Given the description of an element on the screen output the (x, y) to click on. 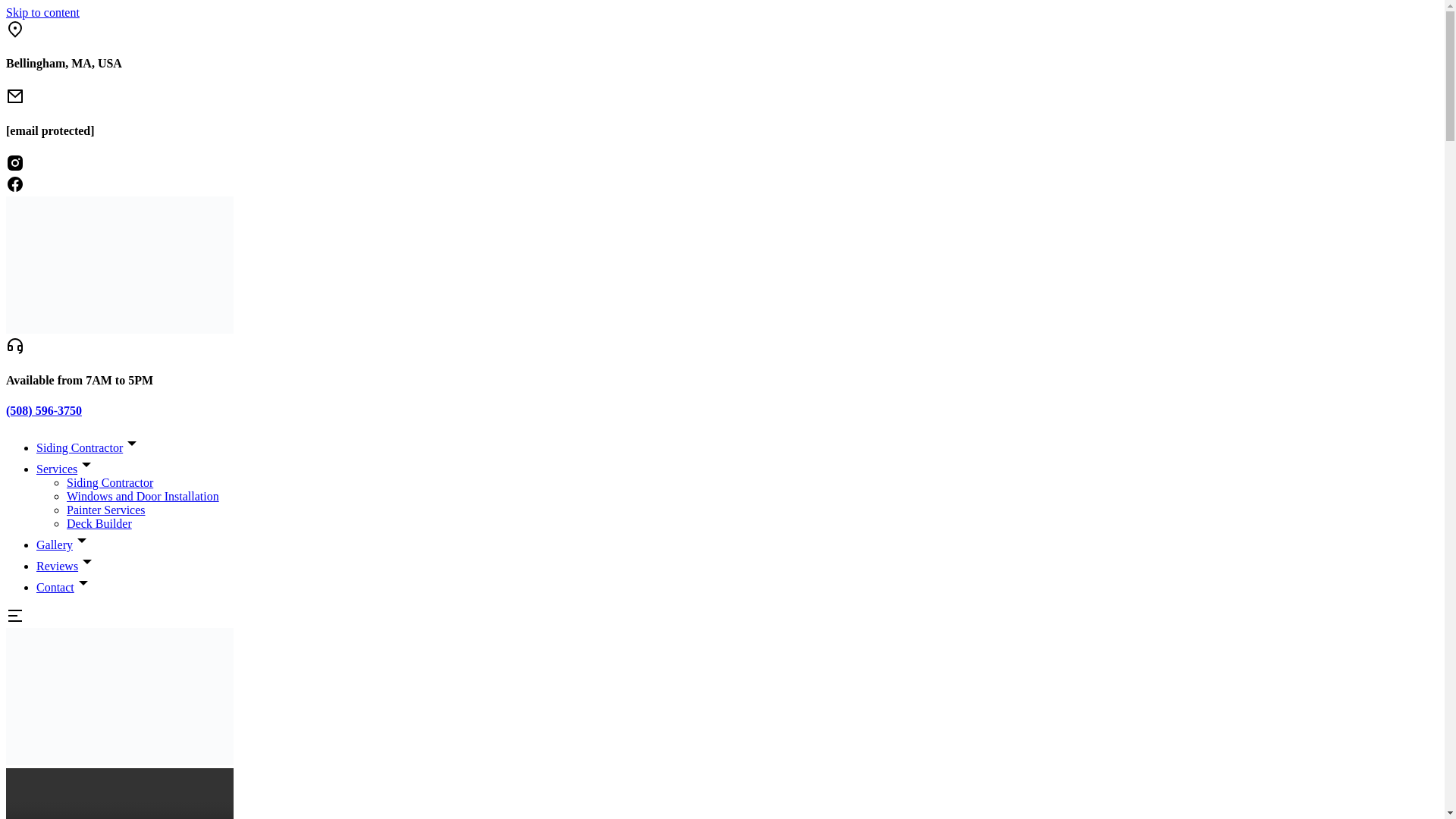
Siding Contractor (88, 447)
Deck Builder (99, 522)
Painter Services (105, 509)
Siding Contractor (109, 481)
Gallery (63, 544)
Bellingham, MA, USA (63, 62)
Reviews (66, 565)
Windows and Door Installation (142, 495)
Contact (64, 586)
Skip to content (42, 11)
